Given the description of an element on the screen output the (x, y) to click on. 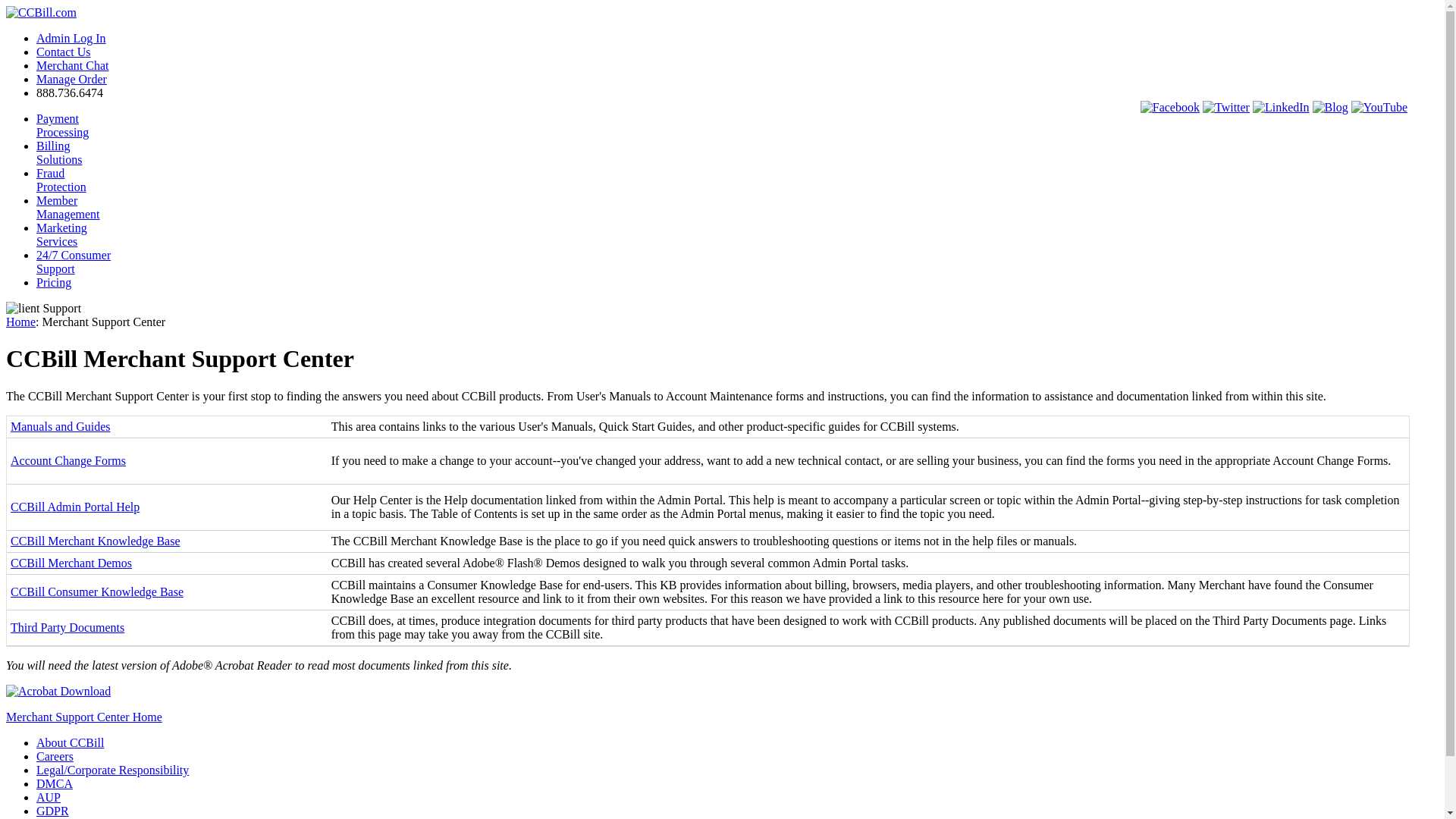
Home (68, 207)
CCBill Merchant Demos (19, 321)
Merchant Support Center Home (58, 152)
CCBill Admin Portal Help (71, 562)
GDPR (62, 125)
Admin Log In (83, 716)
Manage Order (61, 234)
Pricing (74, 506)
AUP (60, 180)
Manuals and Guides (52, 810)
